Given the description of an element on the screen output the (x, y) to click on. 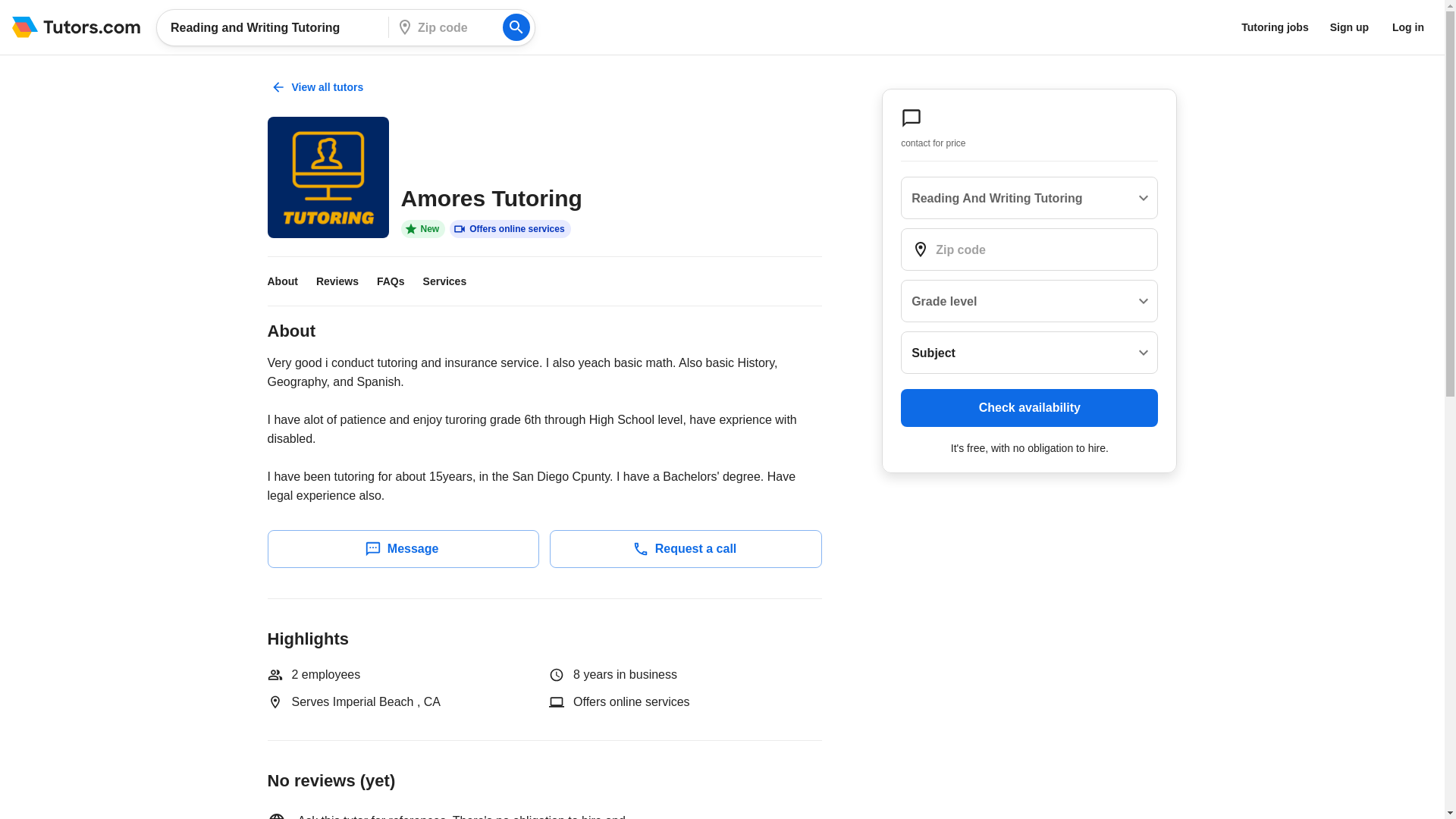
Message (402, 548)
Amores Tutoring (327, 177)
Sign up (1348, 27)
Reviews (346, 280)
View all tutors (317, 87)
Reading and Writing Tutoring (277, 27)
About (290, 280)
FAQs (400, 280)
Request a call (685, 548)
Tutoring jobs (1274, 27)
View all tutors (317, 85)
Check availability (1029, 407)
Connect with this tutor face-to-face over online video. (509, 229)
Services (453, 280)
